Given the description of an element on the screen output the (x, y) to click on. 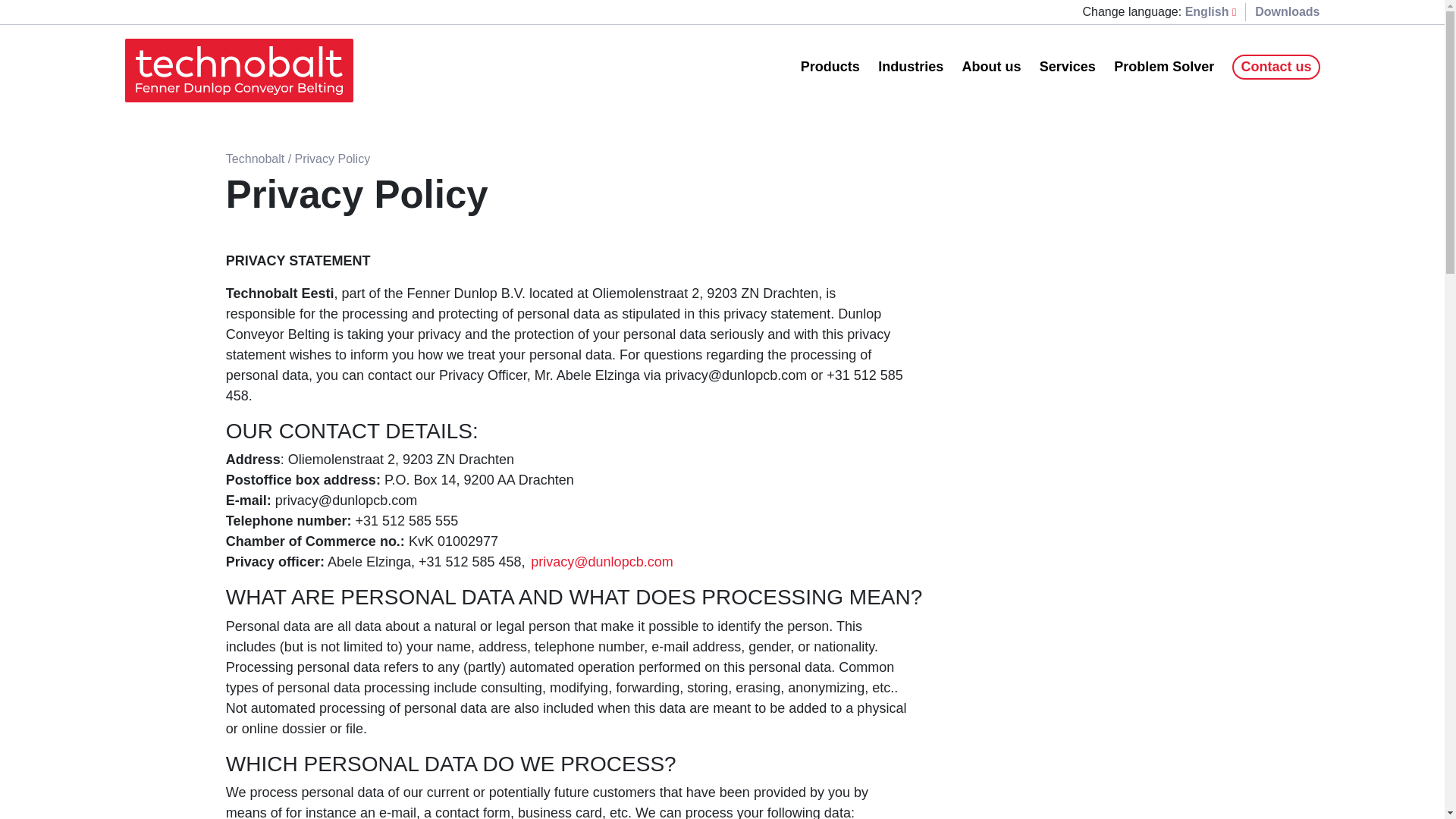
Contact us (1275, 66)
Problem Solver (1163, 67)
About us (990, 67)
Technobalt (254, 158)
Downloads (1287, 11)
Industries (910, 67)
Products (830, 67)
Services (1067, 67)
English (1210, 12)
